Given the description of an element on the screen output the (x, y) to click on. 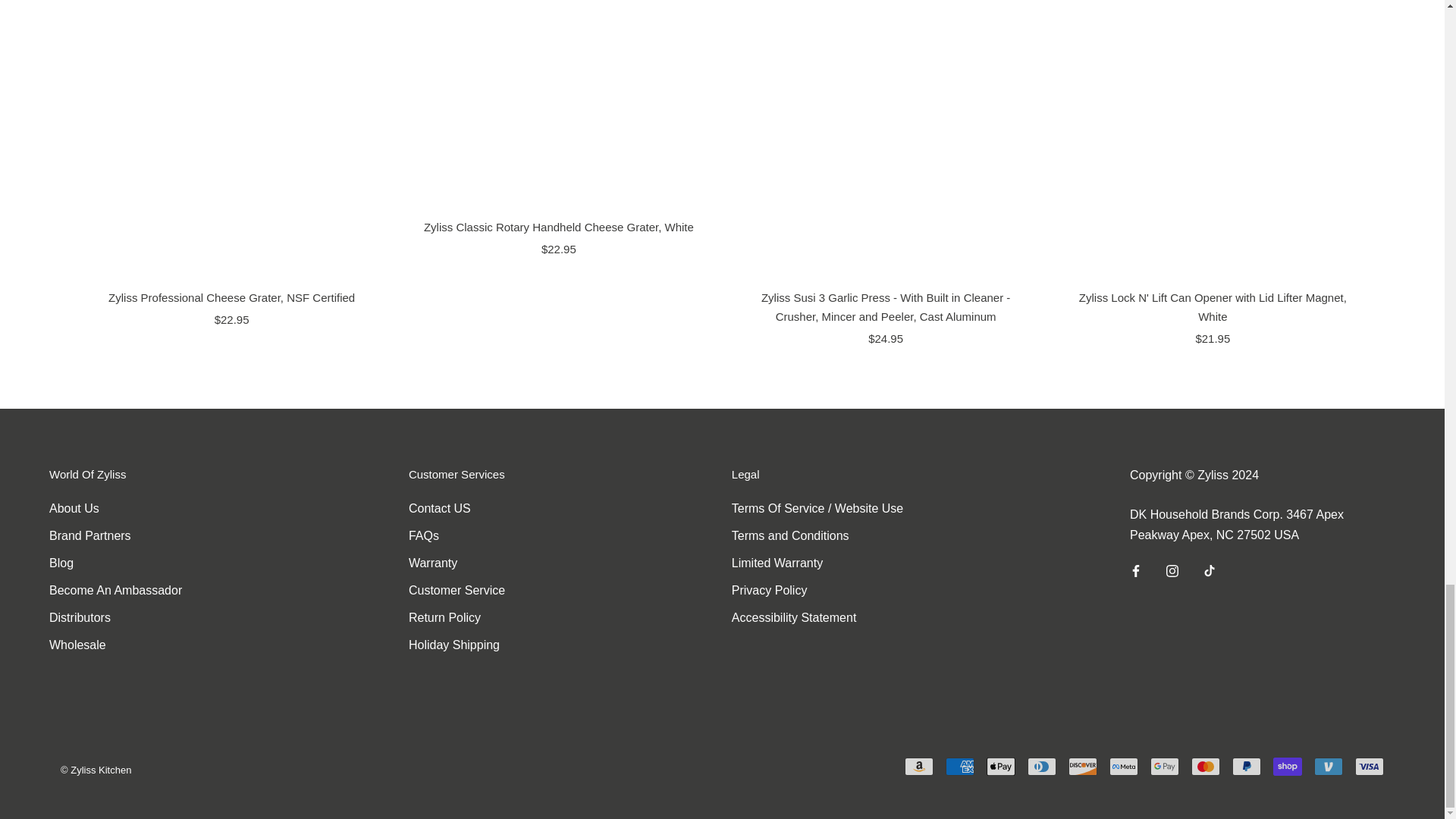
Google Pay (1164, 766)
Diners Club (1042, 766)
American Express (959, 766)
Meta Pay (1123, 766)
Apple Pay (1000, 766)
Amazon (918, 766)
Discover (1082, 766)
